Given the description of an element on the screen output the (x, y) to click on. 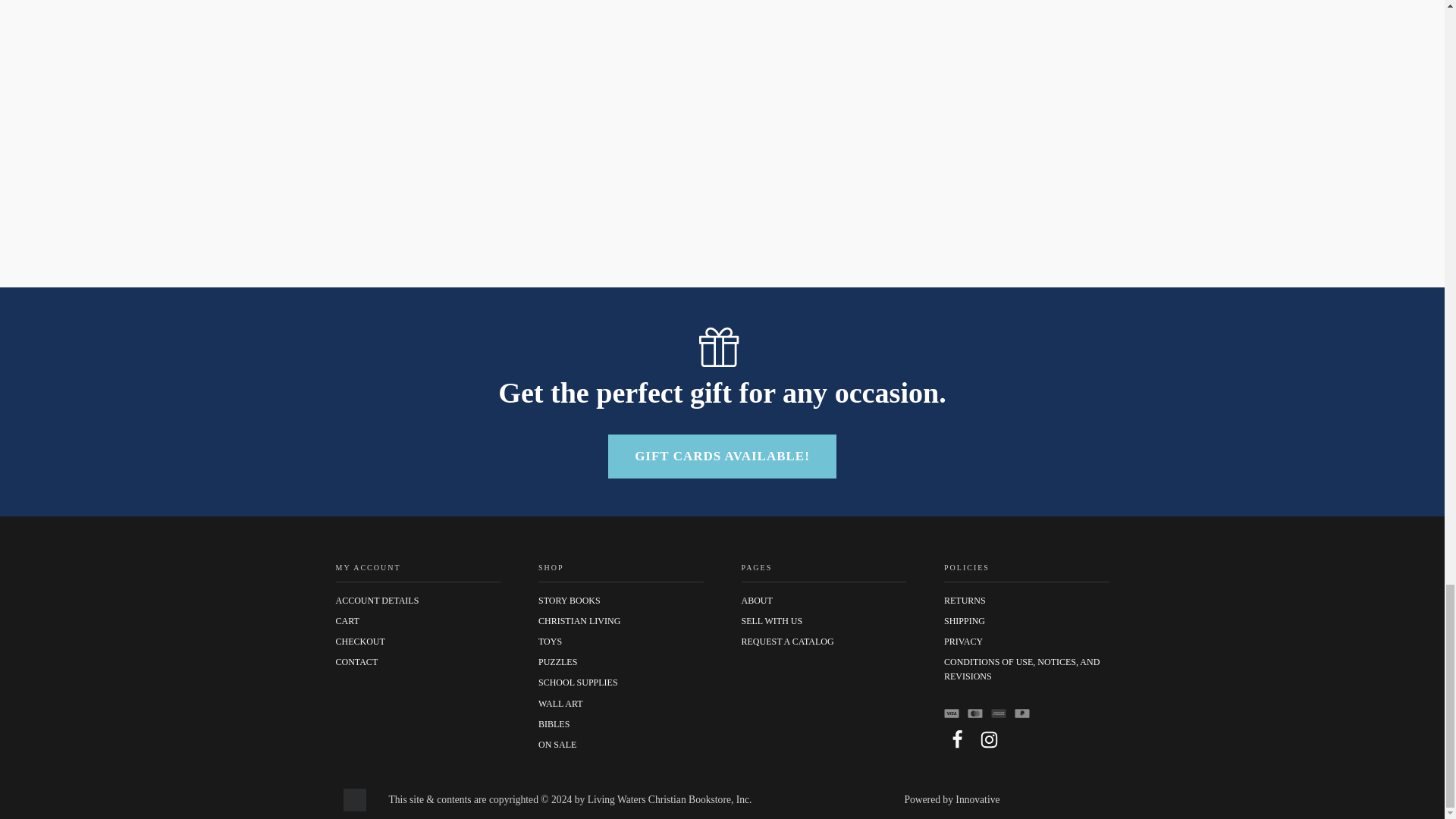
PayPal (1021, 713)
American Express (998, 713)
Visa (951, 713)
Mastercard (975, 713)
